Given the description of an element on the screen output the (x, y) to click on. 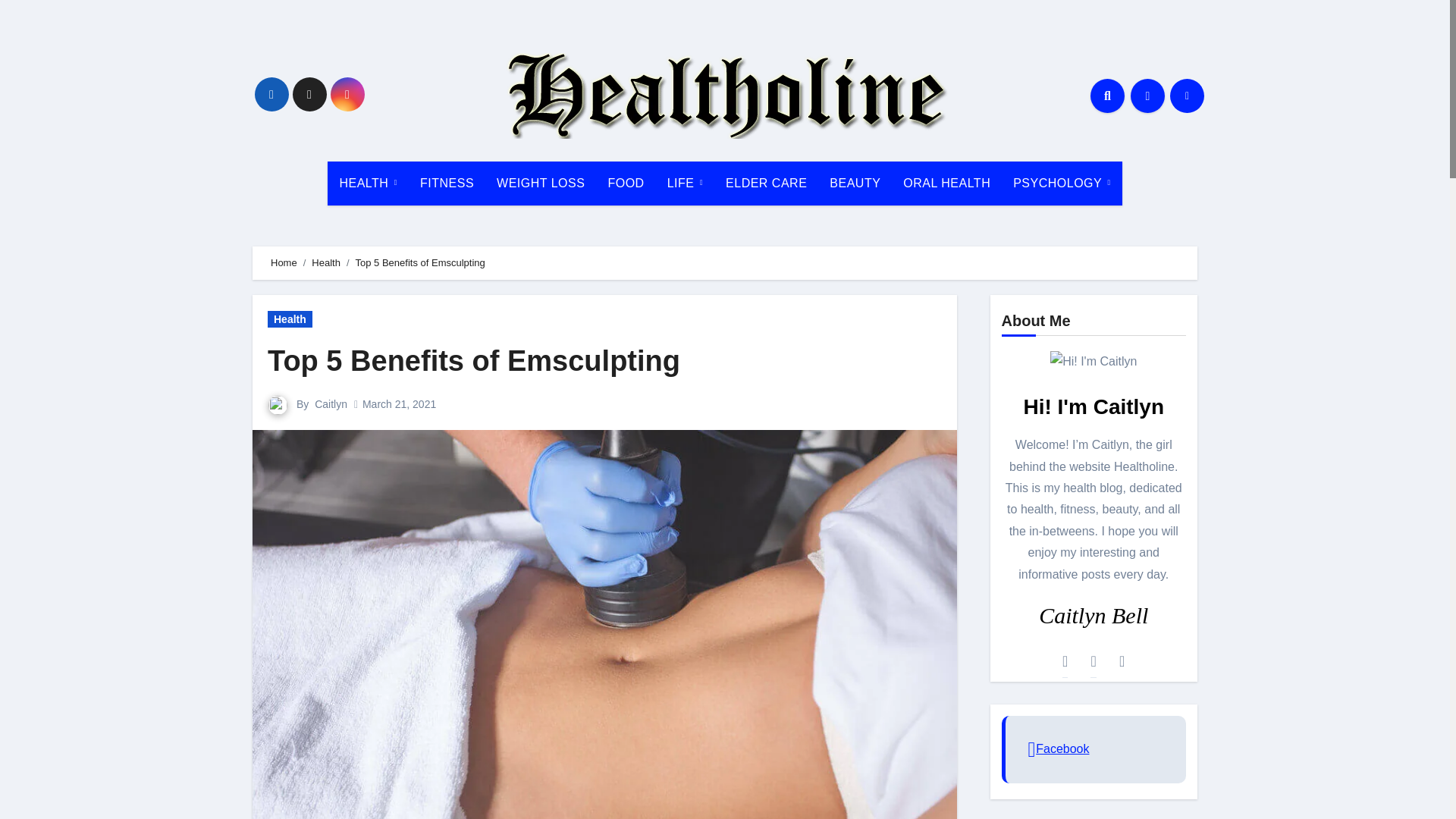
ORAL HEALTH (946, 183)
WEIGHT LOSS (539, 183)
PSYCHOLOGY (1061, 183)
PSYCHOLOGY (1061, 183)
FOOD (625, 183)
BEAUTY (854, 183)
FITNESS (446, 183)
HEALTH (368, 183)
Health (325, 262)
LIFE (685, 183)
